Given the description of an element on the screen output the (x, y) to click on. 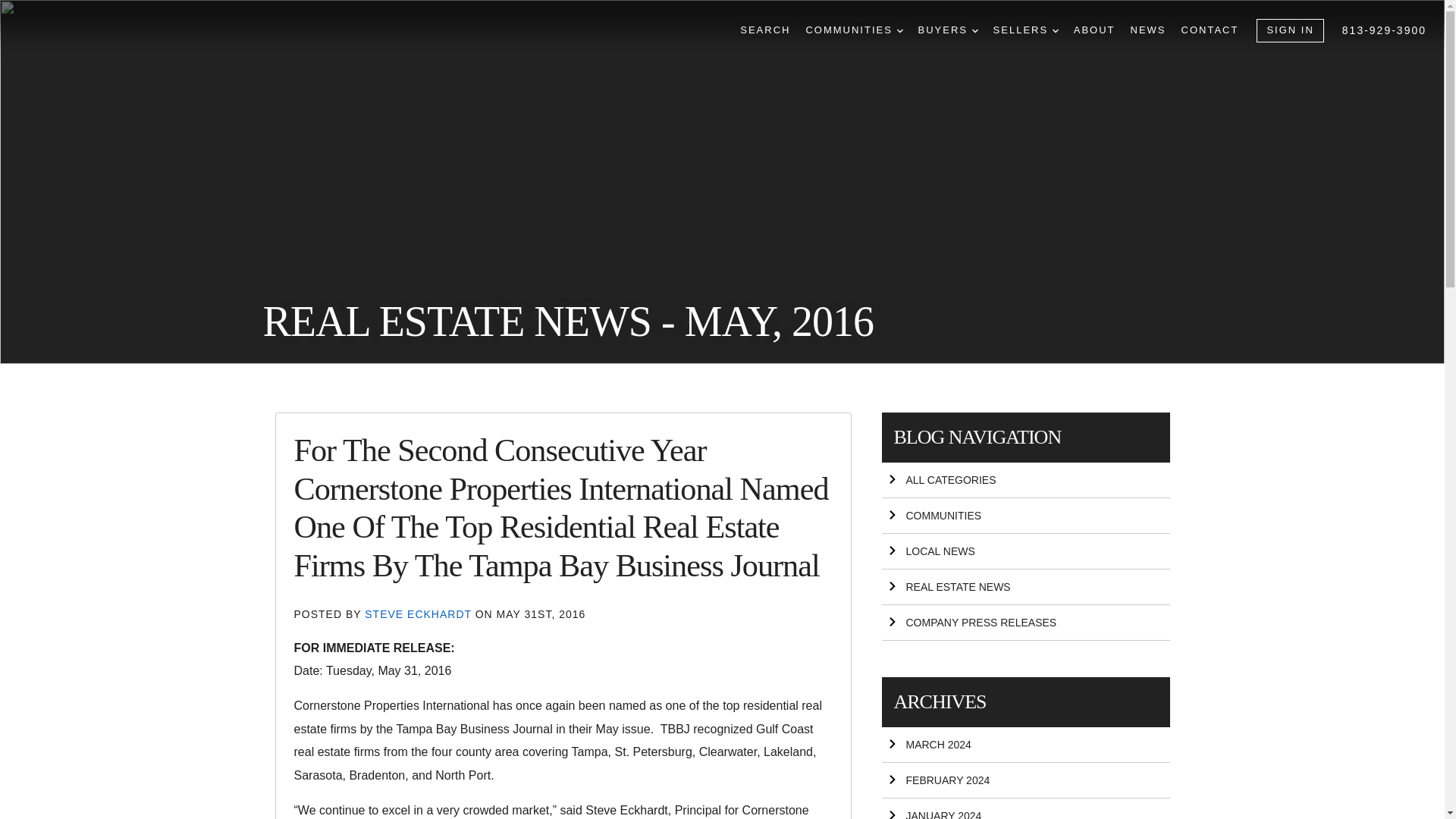
SELLERS DROPDOWN ARROW (1025, 30)
ABOUT (1094, 30)
SEARCH (764, 30)
813-929-3900 (1384, 29)
DROPDOWN ARROW (975, 30)
STEVE ECKHARDT (419, 613)
COMMUNITIES (1024, 515)
CONTACT (1209, 30)
DROPDOWN ARROW (1055, 30)
ALL CATEGORIES (1024, 479)
BUYERS DROPDOWN ARROW (946, 30)
COMMUNITIES DROPDOWN ARROW (853, 30)
NEWS (1148, 30)
SIGN IN (1289, 30)
